Given the description of an element on the screen output the (x, y) to click on. 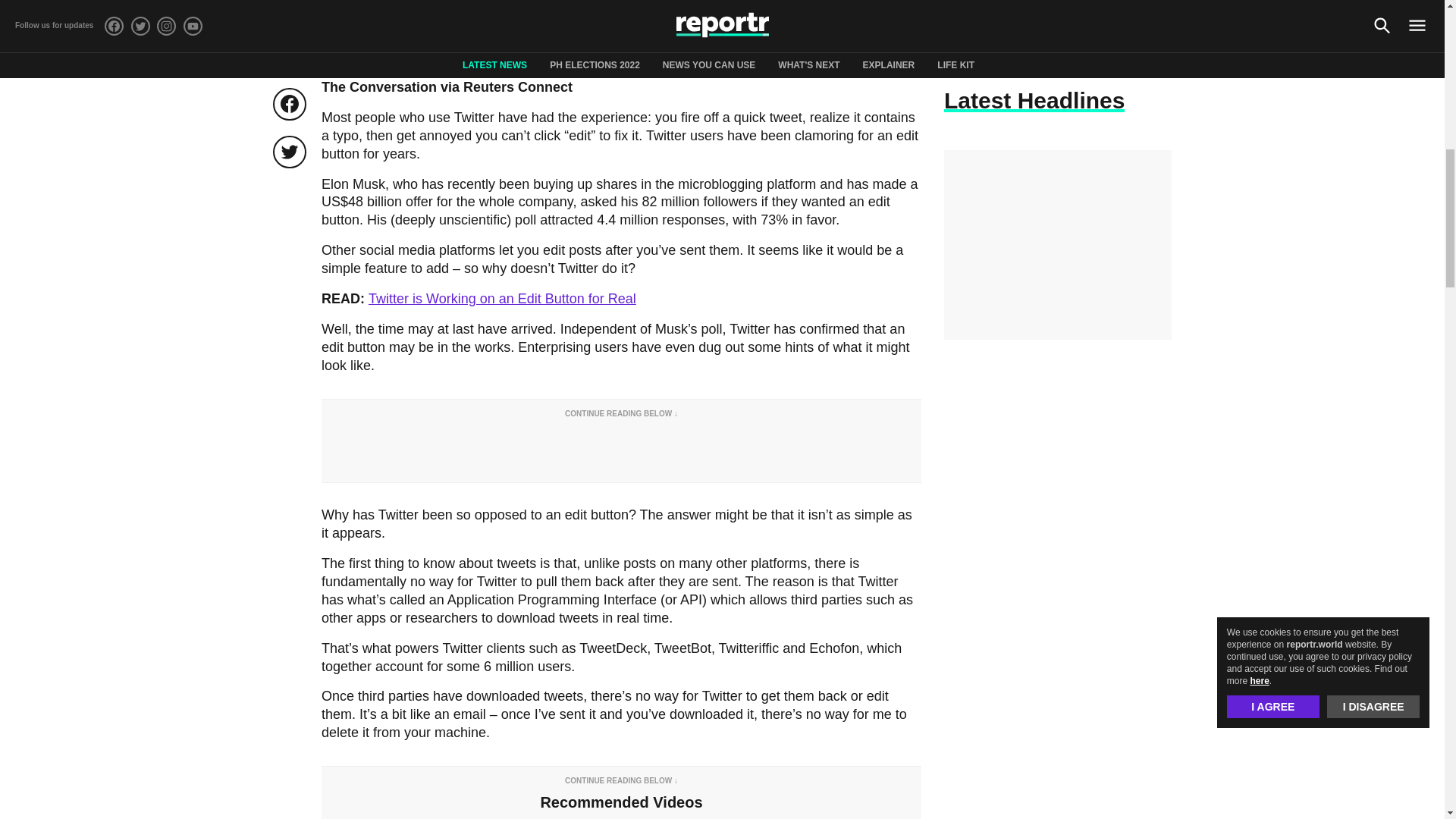
Twitter is Working on an Edit Button for Real (502, 298)
